Given the description of an element on the screen output the (x, y) to click on. 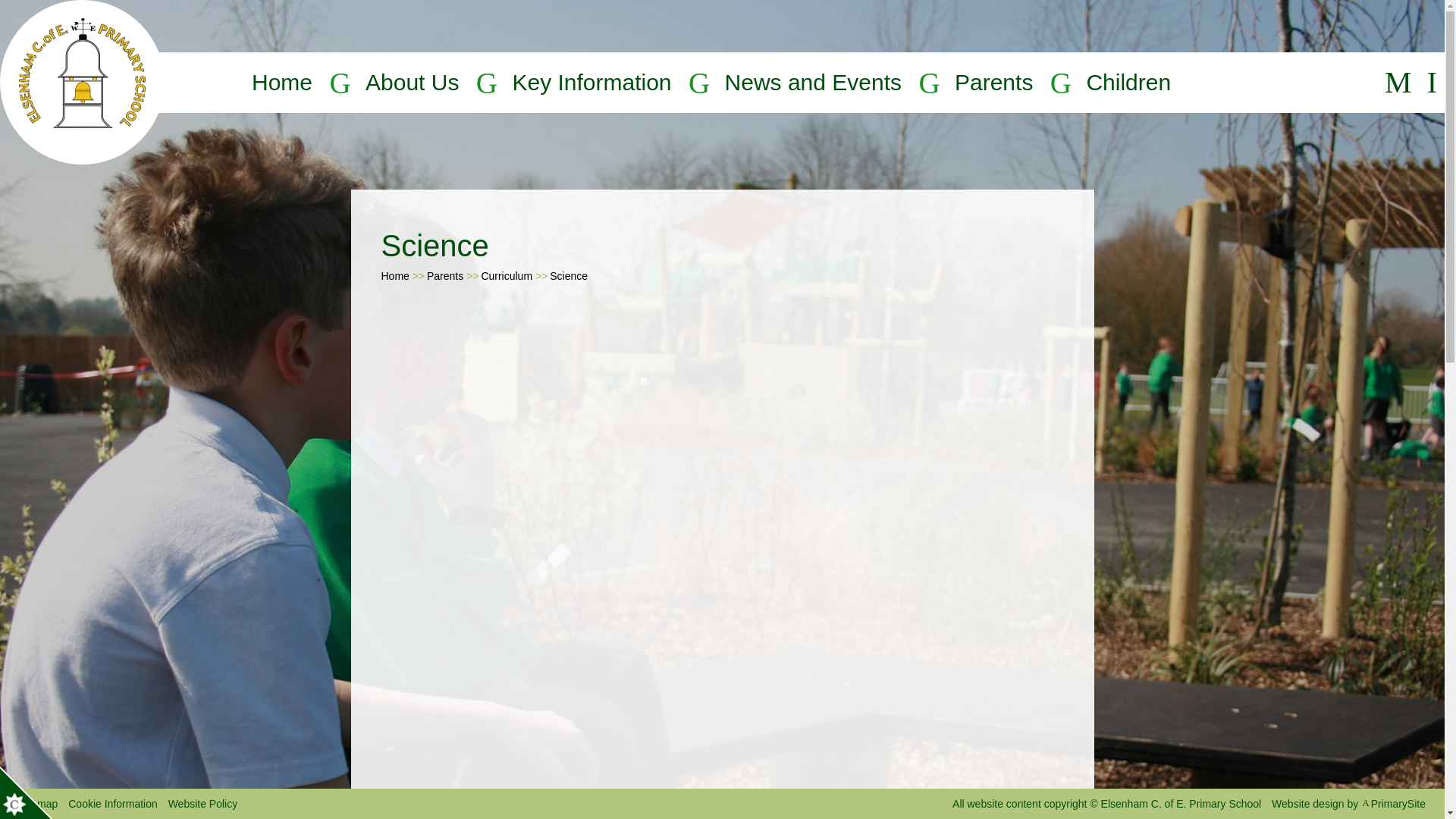
News and Events (813, 81)
Home Page (82, 82)
Home (282, 81)
Parents (993, 81)
About Us (411, 81)
Key Information (591, 81)
